Given the description of an element on the screen output the (x, y) to click on. 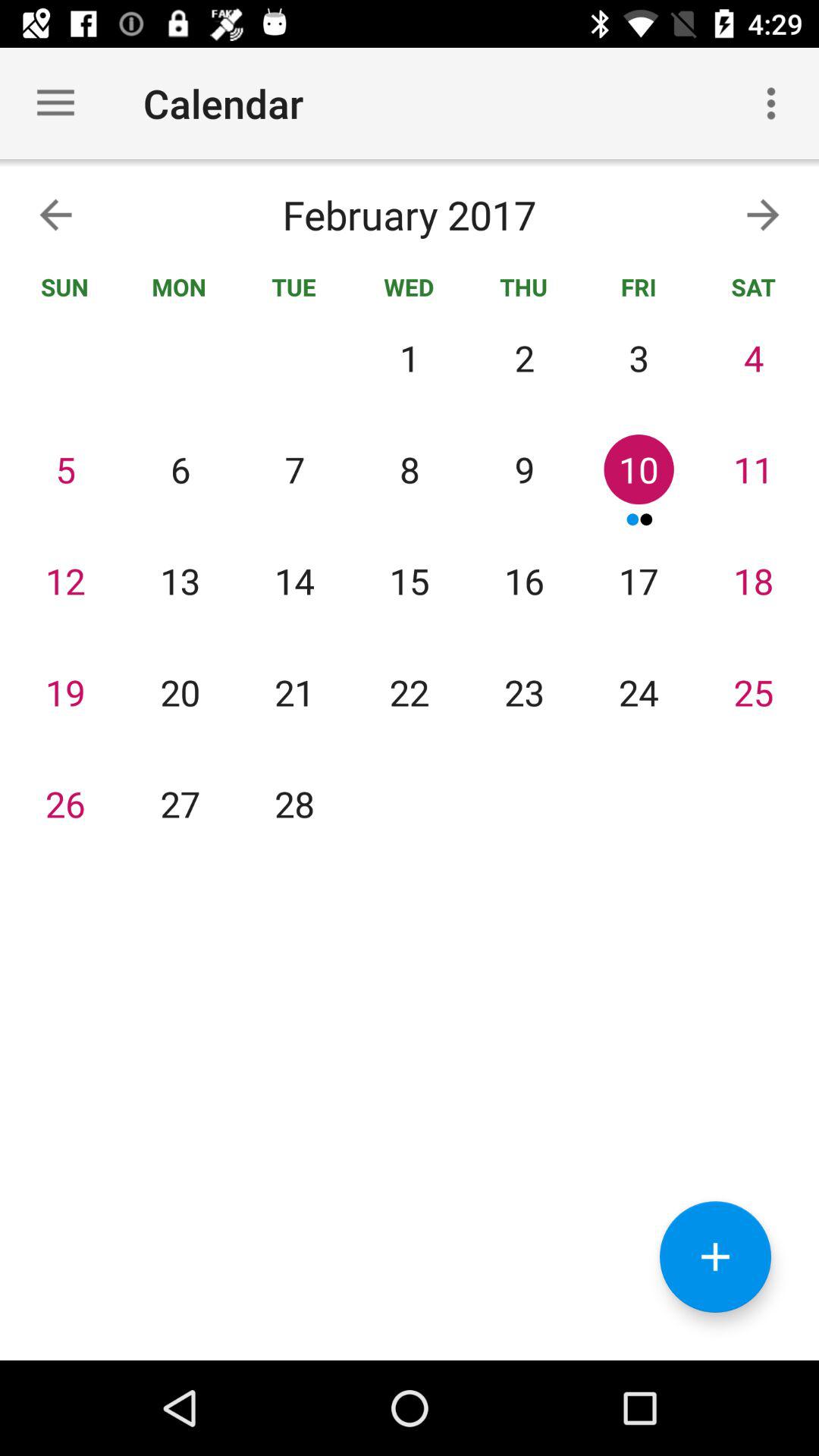
add event (715, 1256)
